Given the description of an element on the screen output the (x, y) to click on. 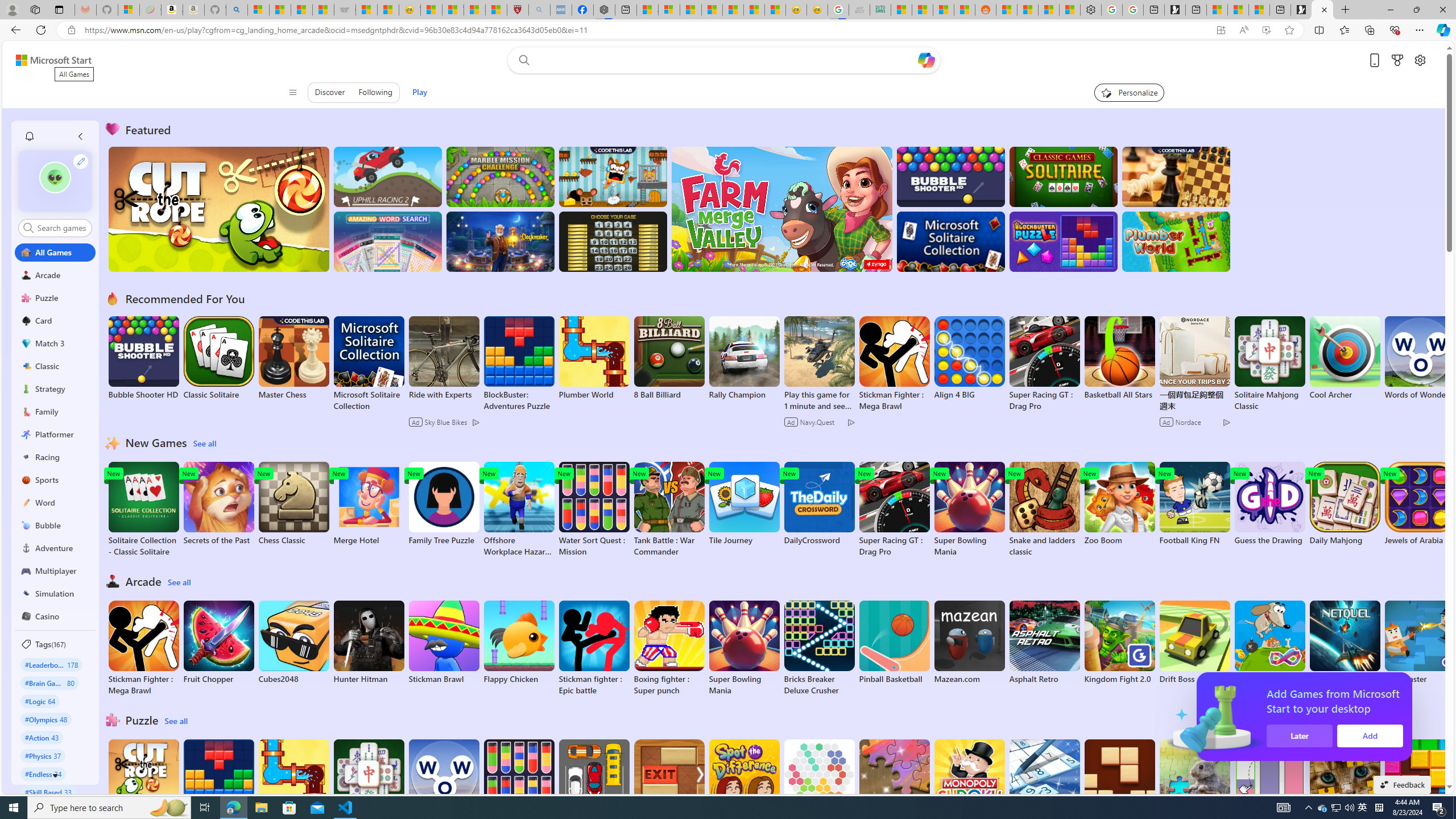
#Brain Games 80 (49, 682)
#Logic 64 (39, 700)
Merge Hotel (368, 503)
Football King FN (1194, 503)
Class: control icon-only (292, 92)
Flappy Chicken (518, 642)
#Leaderboard 178 (51, 664)
Class: arrow-bottom button-default-style-remove (55, 775)
